Given the description of an element on the screen output the (x, y) to click on. 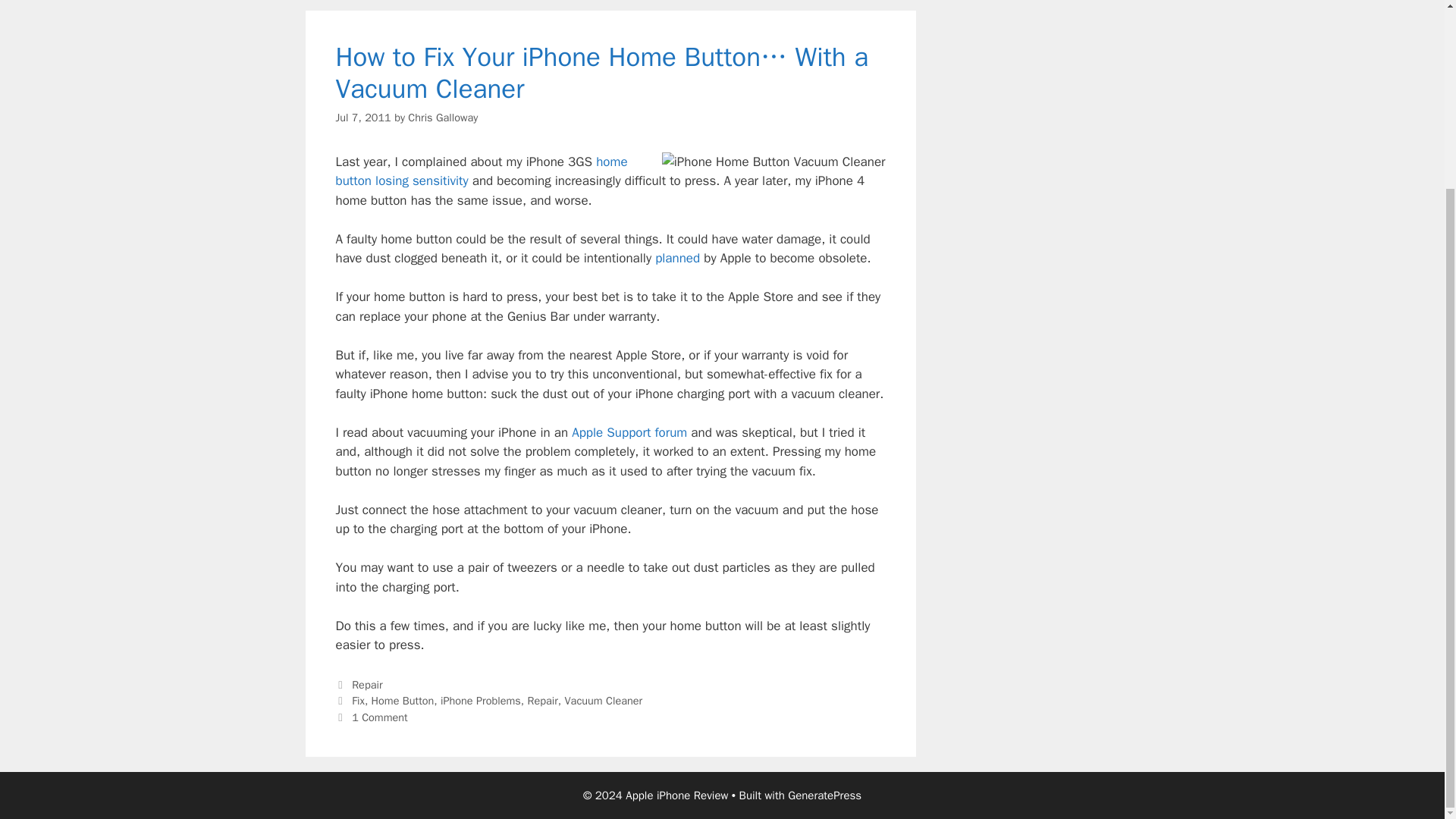
View all posts by Chris Galloway (442, 117)
iPhone Problems (481, 700)
Repair (542, 700)
Home Button (402, 700)
home button losing sensitivity (480, 171)
Vacuum Cleaner (603, 700)
1 Comment (379, 716)
GeneratePress (824, 795)
Fix (358, 700)
Repair (366, 684)
Chris Galloway (442, 117)
Apple Support forum (629, 432)
planned (677, 258)
